Given the description of an element on the screen output the (x, y) to click on. 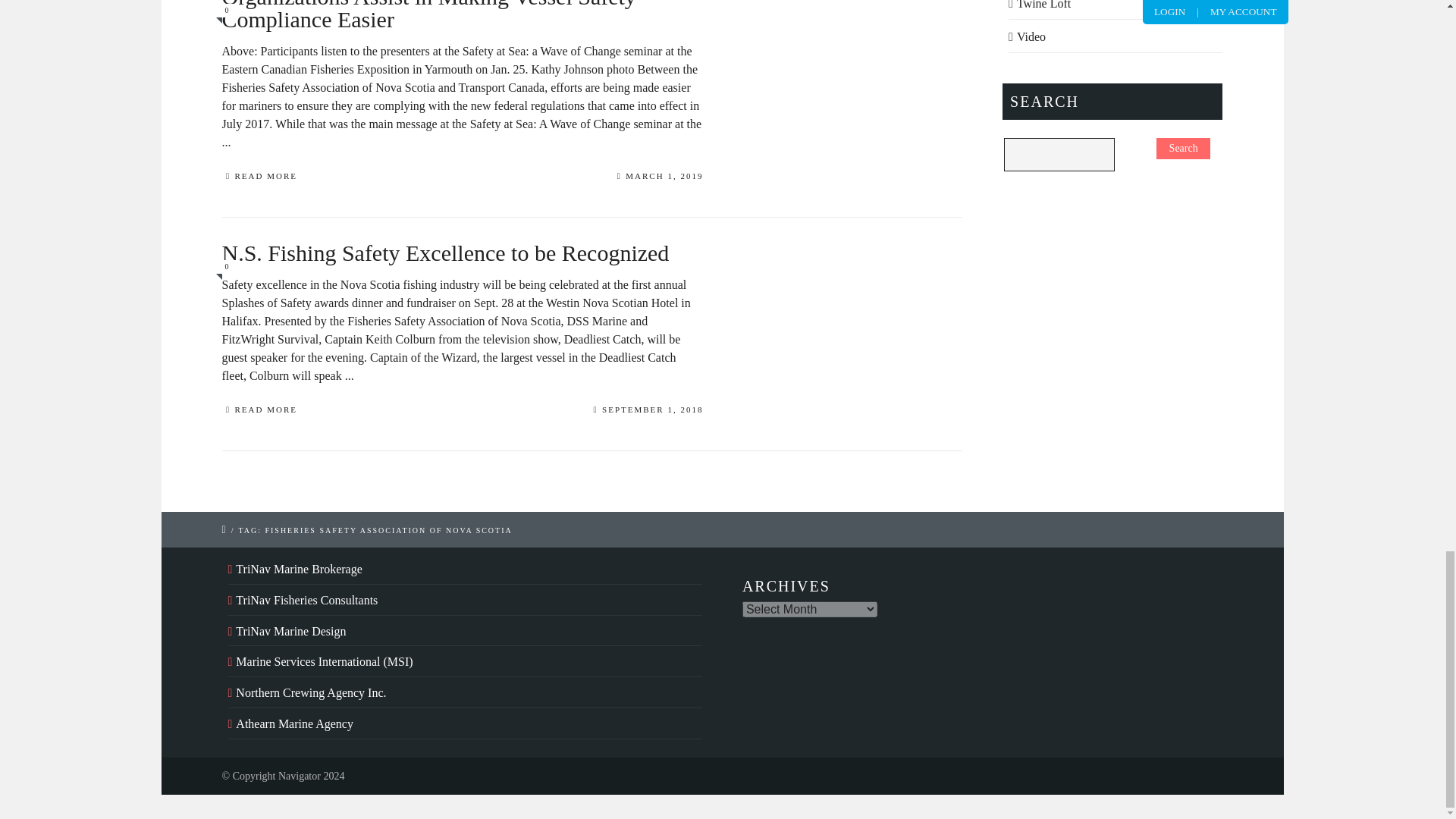
Search (1183, 148)
